Given the description of an element on the screen output the (x, y) to click on. 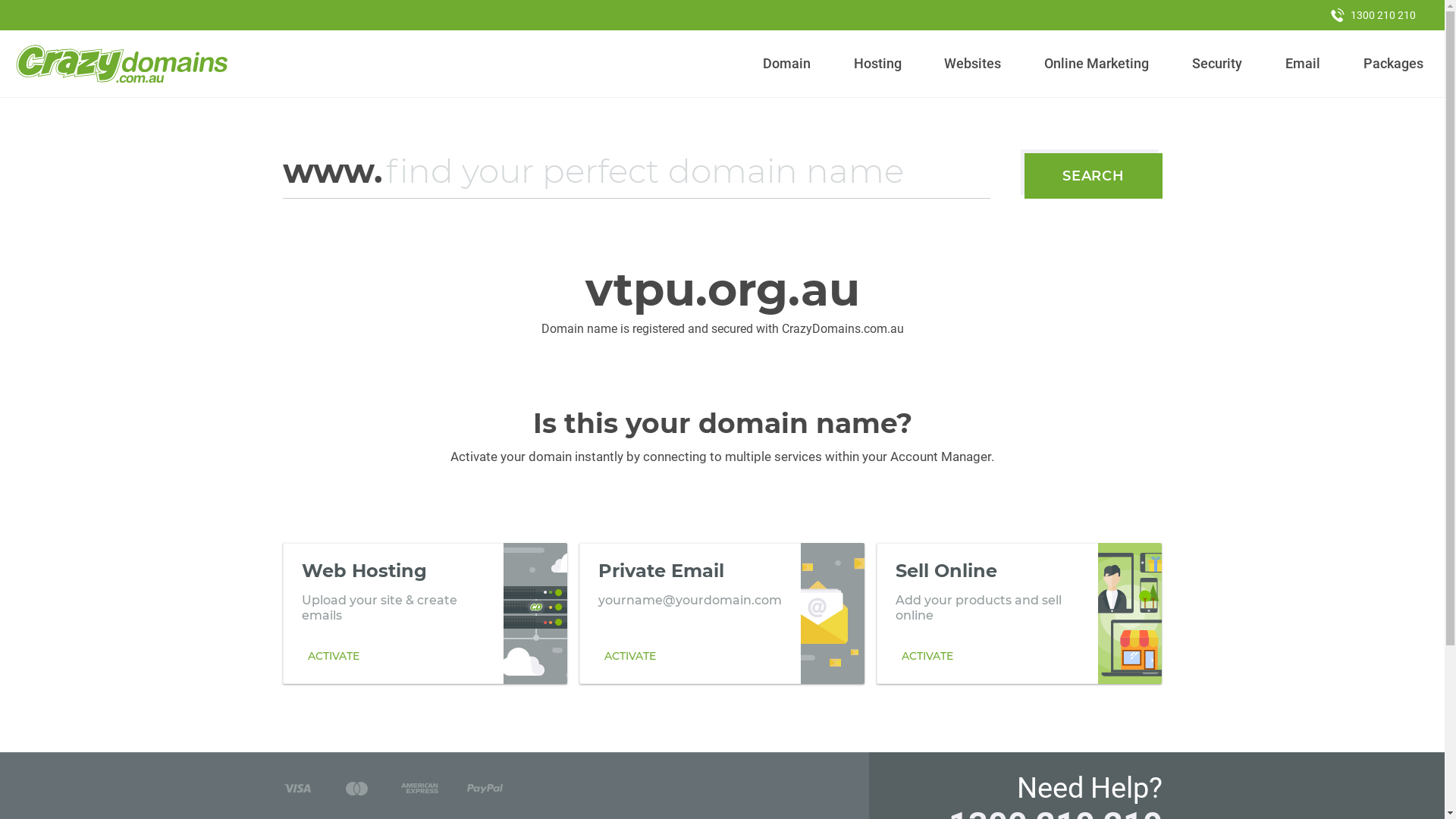
1300 210 210 Element type: text (1373, 15)
Sell Online
Add your products and sell online
ACTIVATE Element type: text (1018, 613)
Packages Element type: text (1392, 63)
Web Hosting
Upload your site & create emails
ACTIVATE Element type: text (424, 613)
Security Element type: text (1217, 63)
Hosting Element type: text (877, 63)
Websites Element type: text (972, 63)
Private Email
yourname@yourdomain.com
ACTIVATE Element type: text (721, 613)
SEARCH Element type: text (1092, 175)
Email Element type: text (1302, 63)
Domain Element type: text (786, 63)
Online Marketing Element type: text (1096, 63)
